Given the description of an element on the screen output the (x, y) to click on. 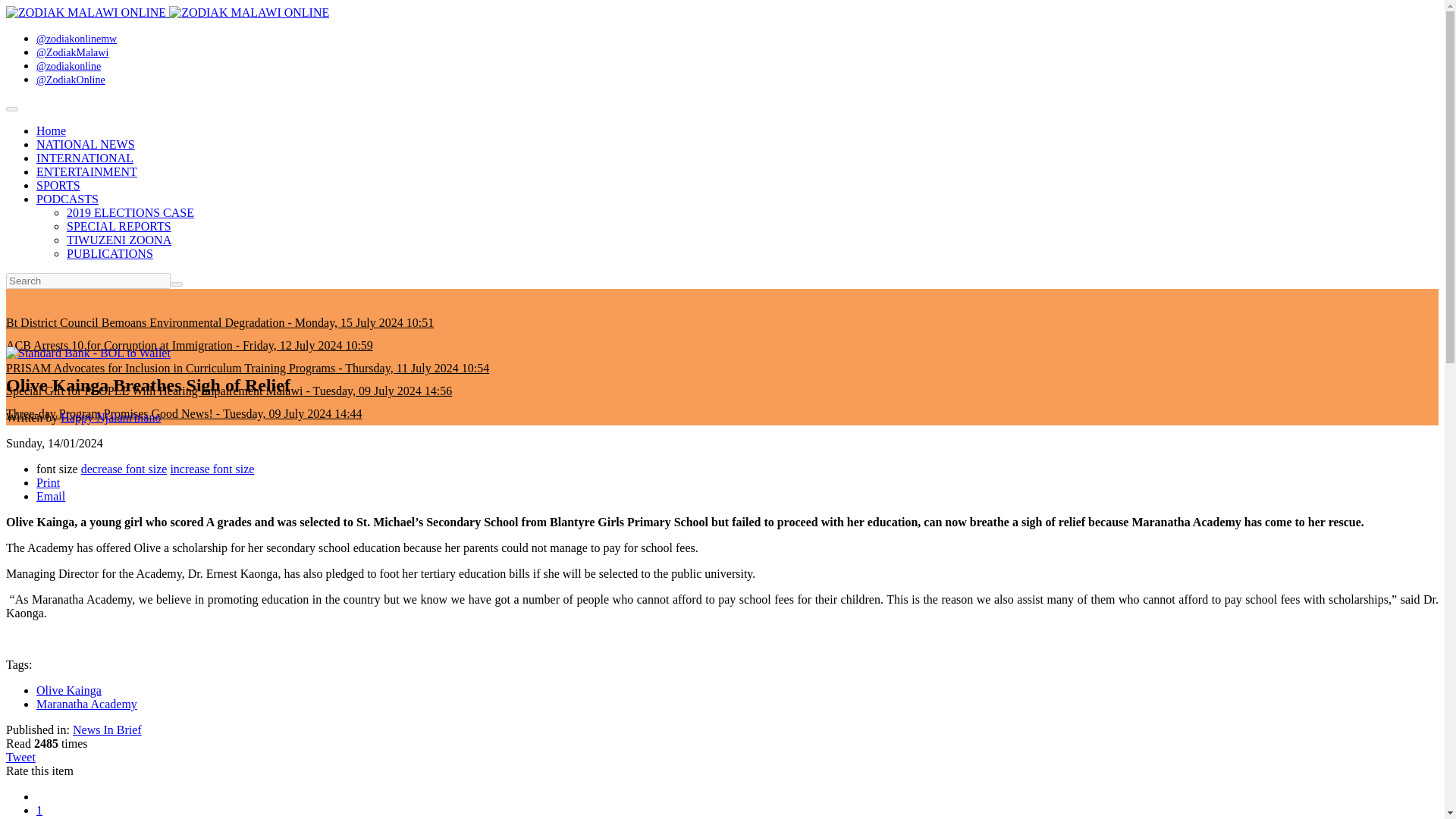
PODCASTS (67, 198)
1 star out of 5 (39, 809)
Maranatha Academy (86, 703)
increase font size (211, 468)
TIWUZENI ZOONA (118, 239)
Happy Njalam'mano (110, 417)
NATIONAL NEWS (85, 144)
Email (50, 495)
PUBLICATIONS (109, 253)
News In Brief (106, 729)
SPORTS (58, 185)
